Given the description of an element on the screen output the (x, y) to click on. 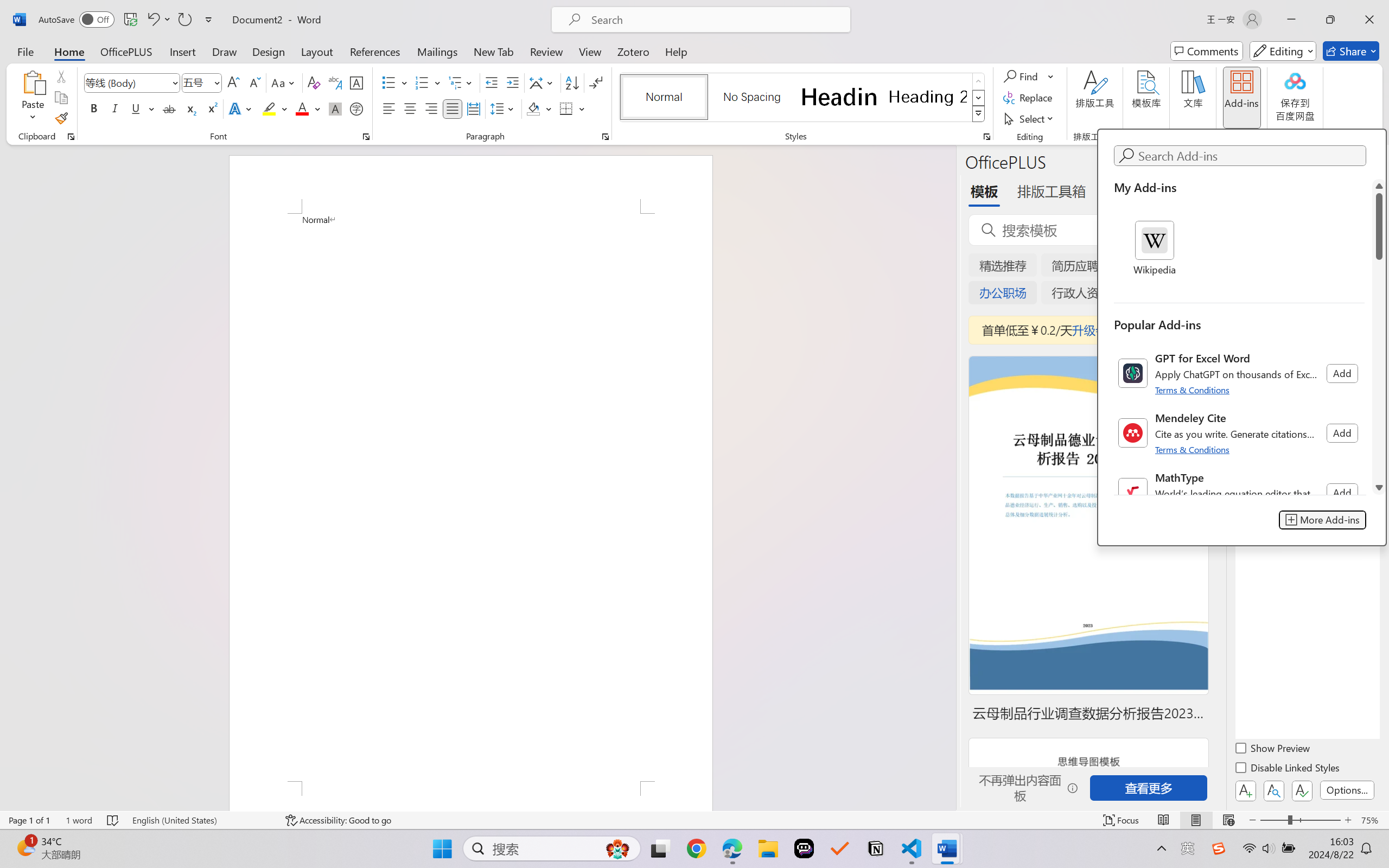
Additional Information (1297, 498)
Export to Video (317, 62)
